Given the description of an element on the screen output the (x, y) to click on. 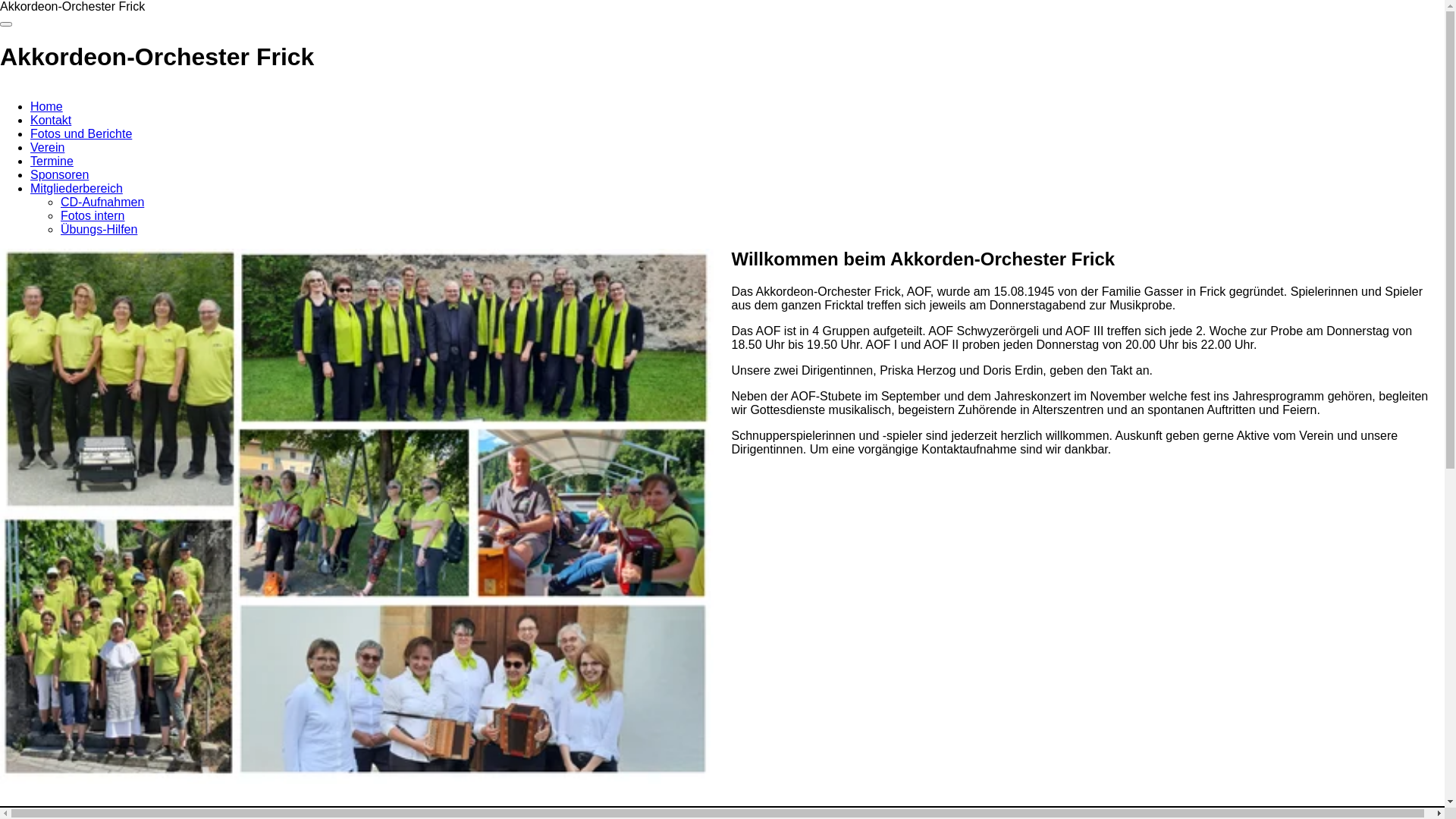
Home Element type: text (46, 106)
Sponsoren Element type: text (59, 174)
Termine Element type: text (51, 160)
CD-Aufnahmen Element type: text (102, 201)
Verein Element type: text (47, 147)
Fotos intern Element type: text (92, 215)
Fotos und Berichte Element type: text (80, 133)
Kontakt Element type: text (50, 119)
Mitgliederbereich Element type: text (76, 188)
